Given the description of an element on the screen output the (x, y) to click on. 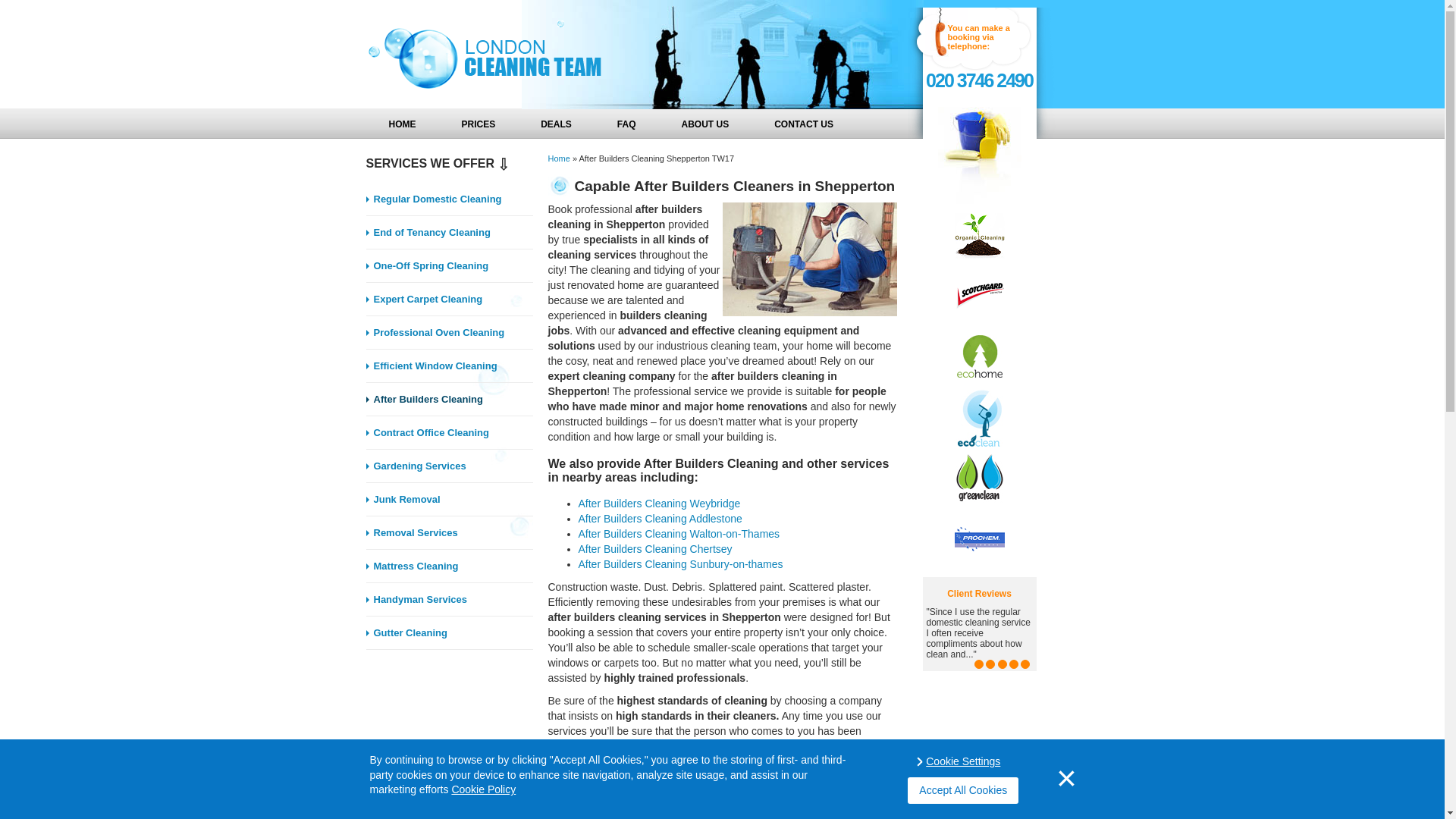
HOME (401, 123)
Removal Services (448, 532)
After Builders Cleaning (448, 399)
London Cleaning Team (489, 54)
Contract Office Cleaning (448, 432)
Home (558, 157)
Efficient Window Cleaning (448, 365)
FAQ (626, 123)
Cleaning Services Prices (478, 123)
Professional Oven Cleaning (448, 332)
One-Off Spring Cleaning (448, 265)
Our Special Offers (556, 123)
PRICES (478, 123)
Contact London Cleaning Team (803, 123)
CONTACT US (803, 123)
